Given the description of an element on the screen output the (x, y) to click on. 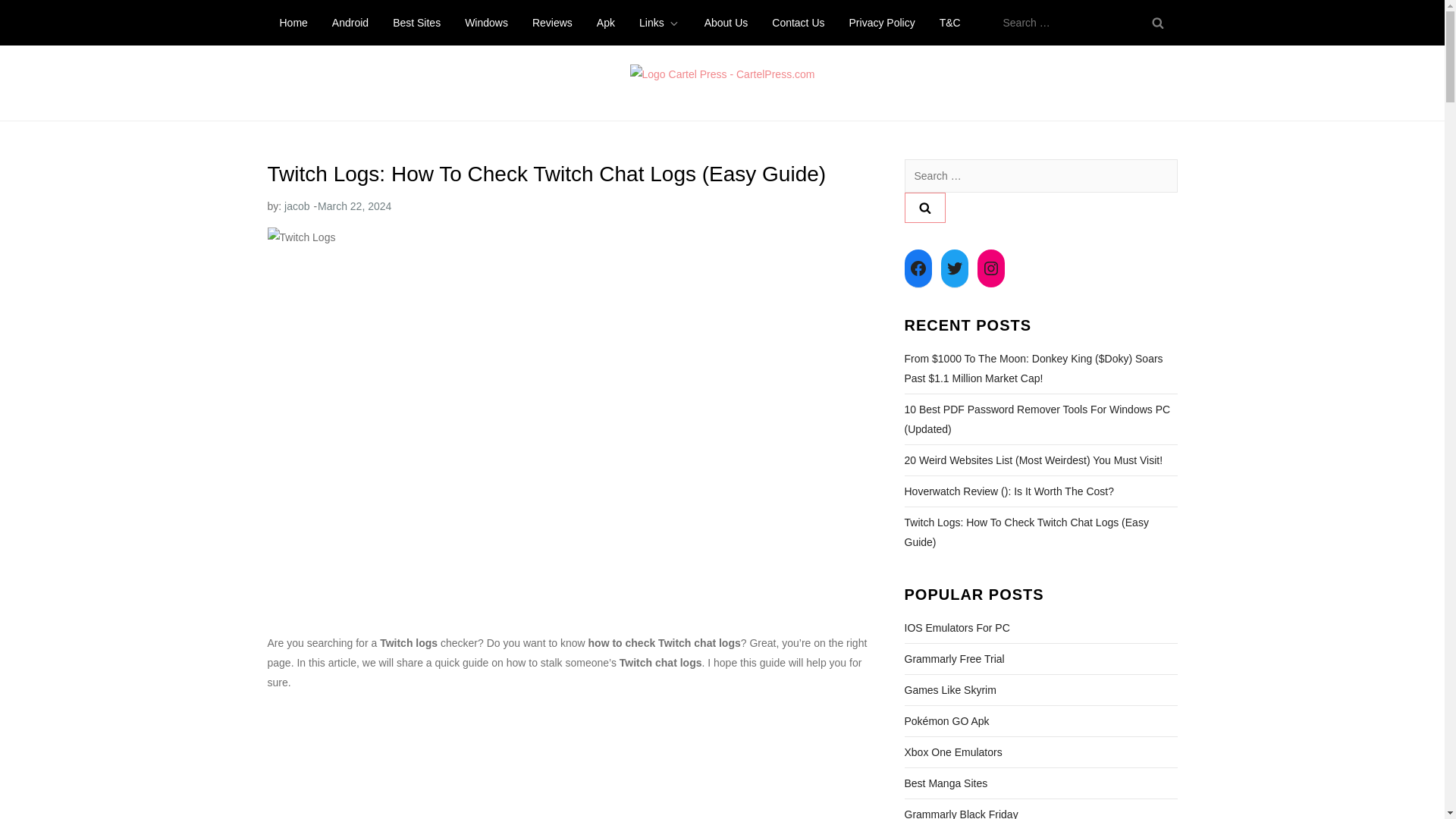
Windows (485, 22)
March 22, 2024 (354, 205)
Home (292, 22)
Contact Us (797, 22)
Privacy Policy (882, 22)
Reviews (552, 22)
jacob (295, 205)
Best Sites (416, 22)
About Us (726, 22)
Android (350, 22)
Links (660, 22)
Apk (606, 22)
CartelPress (329, 114)
